Given the description of an element on the screen output the (x, y) to click on. 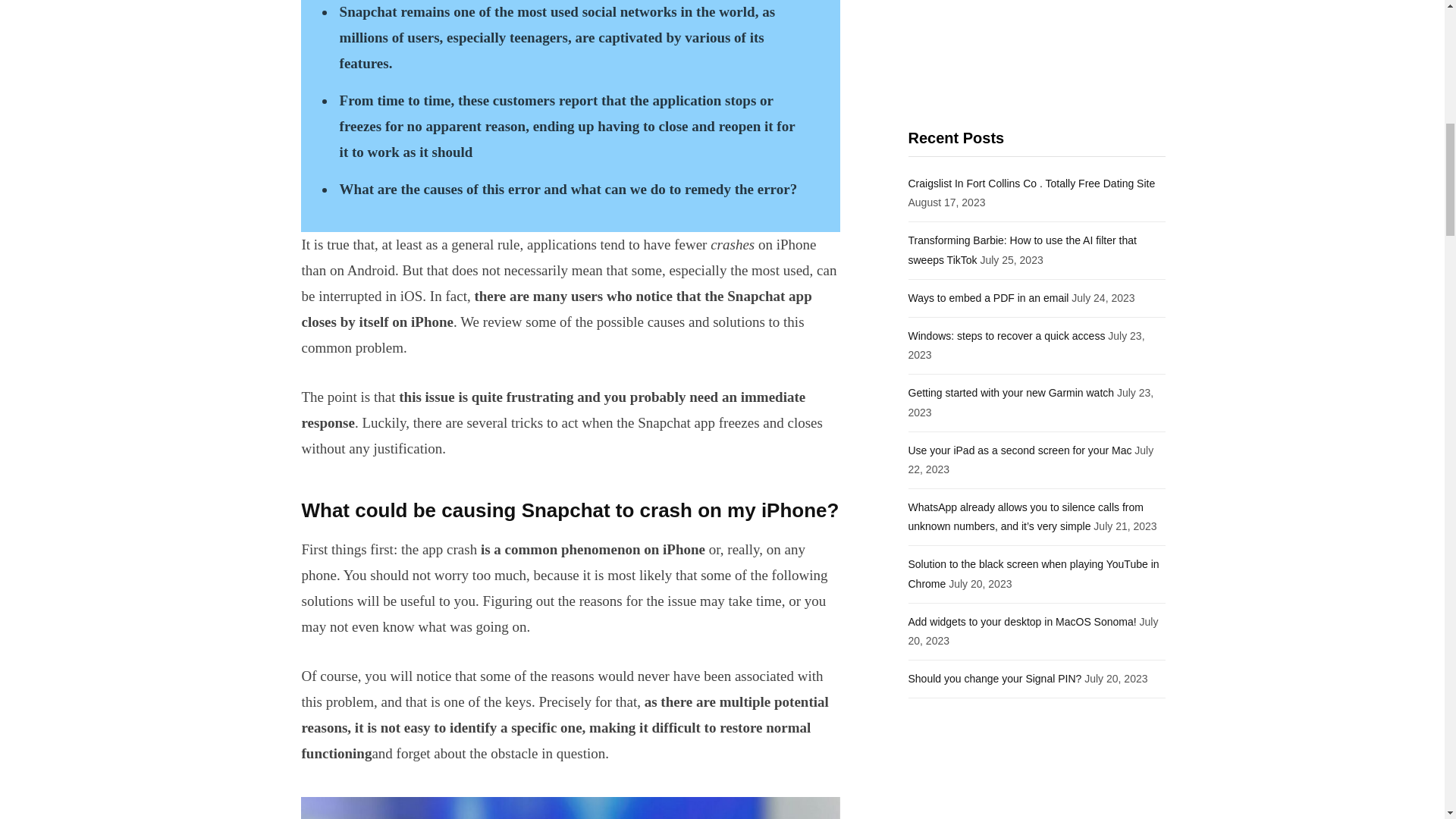
Use your iPad as a second screen for your Mac (1020, 450)
Ways to embed a PDF in an email (988, 297)
Getting started with your new Garmin watch (1011, 392)
Add widgets to your desktop in MacOS Sonoma! (1022, 621)
Solution to the black screen when playing YouTube in Chrome (1033, 572)
Should you change your Signal PIN? (994, 678)
Craigslist In Fort Collins Co . Totally Free Dating Site (1032, 183)
Windows: steps to recover a quick access (1006, 336)
